Given the description of an element on the screen output the (x, y) to click on. 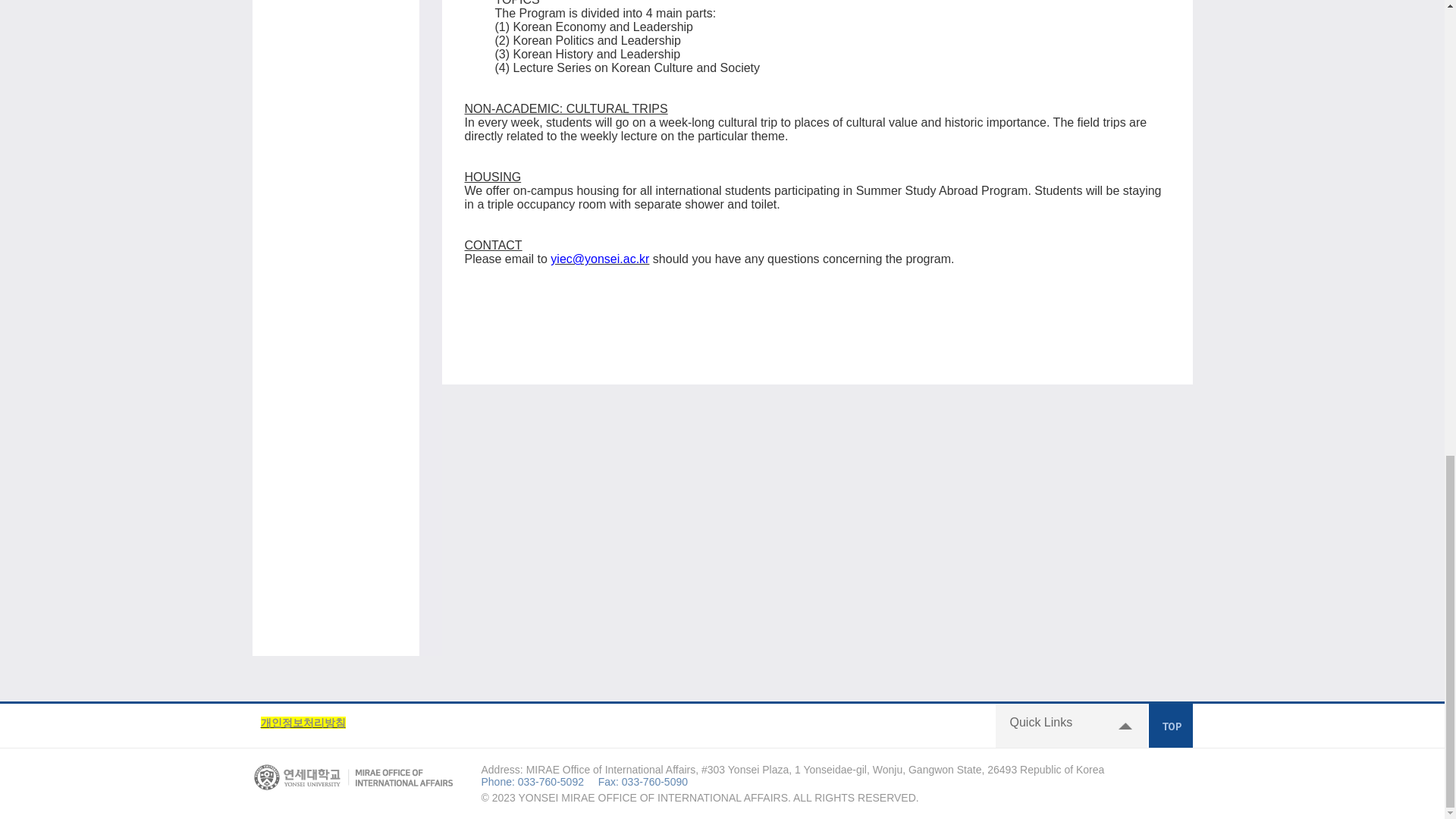
Go to Top (1170, 725)
Make a Call (550, 781)
Go to Quick Service (1070, 725)
TOP (1170, 725)
